Given the description of an element on the screen output the (x, y) to click on. 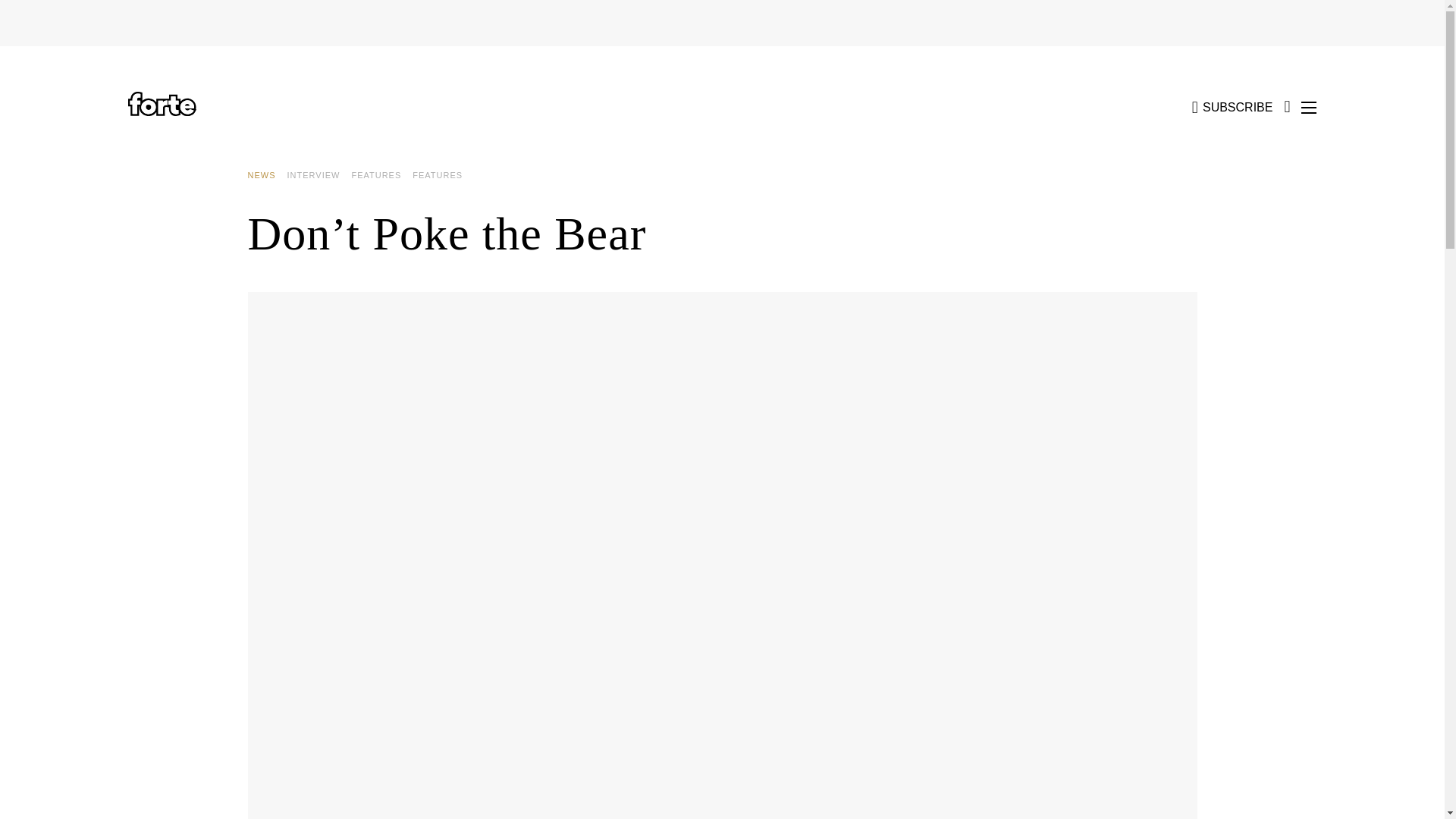
NEWS (266, 175)
FEATURES (381, 175)
INTERVIEW (318, 175)
FEATURES (443, 175)
